Given the description of an element on the screen output the (x, y) to click on. 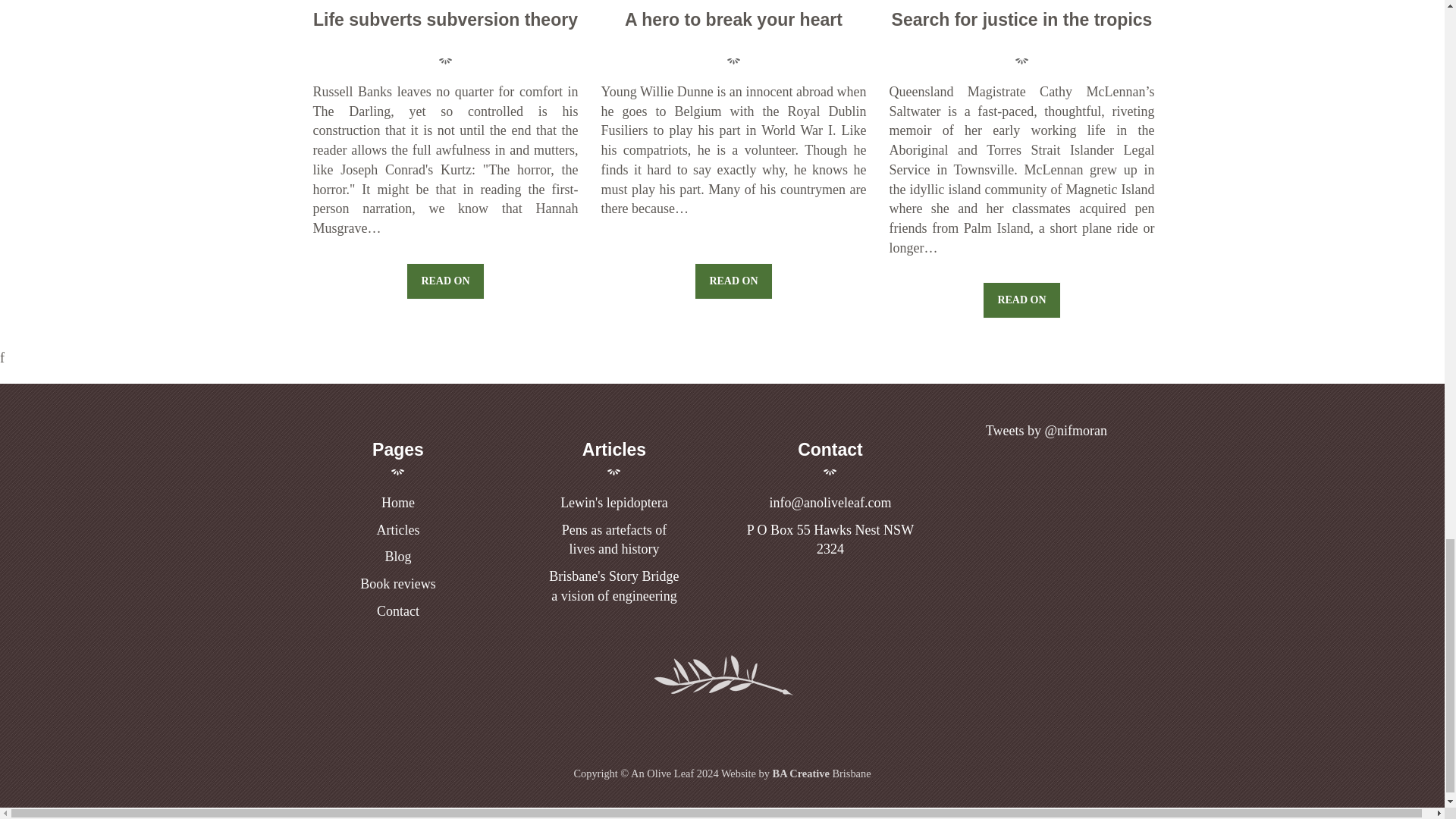
Website by BA Creative Brisbane (613, 585)
Contact (795, 773)
READ ON (398, 611)
Blog (444, 280)
Lewin's lepidoptera (397, 556)
Articles (614, 502)
Book reviews (614, 539)
READ ON (397, 529)
